Given the description of an element on the screen output the (x, y) to click on. 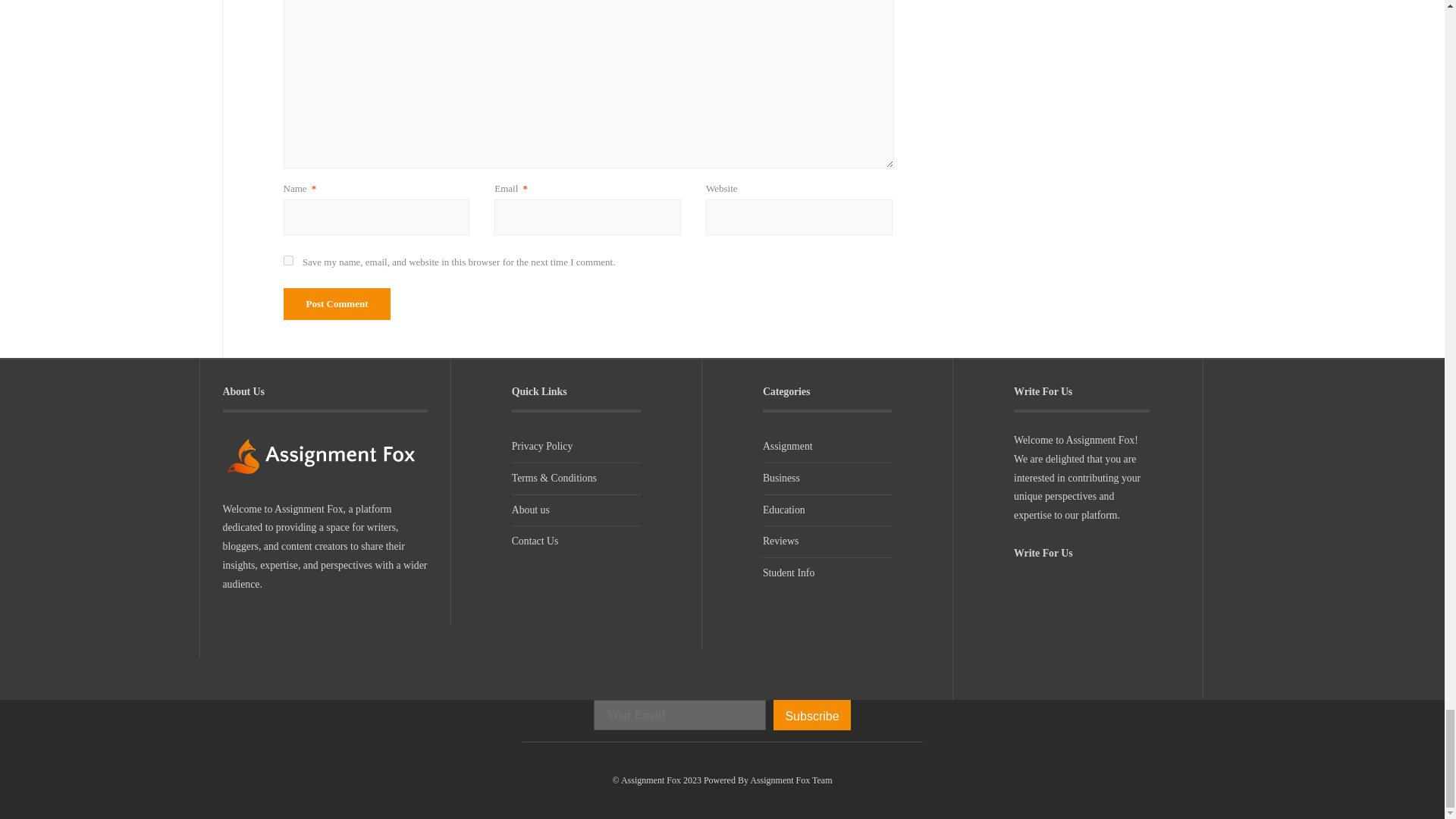
yes (288, 260)
Subscribe (811, 715)
Post Comment (337, 304)
Post Comment (337, 304)
